Given the description of an element on the screen output the (x, y) to click on. 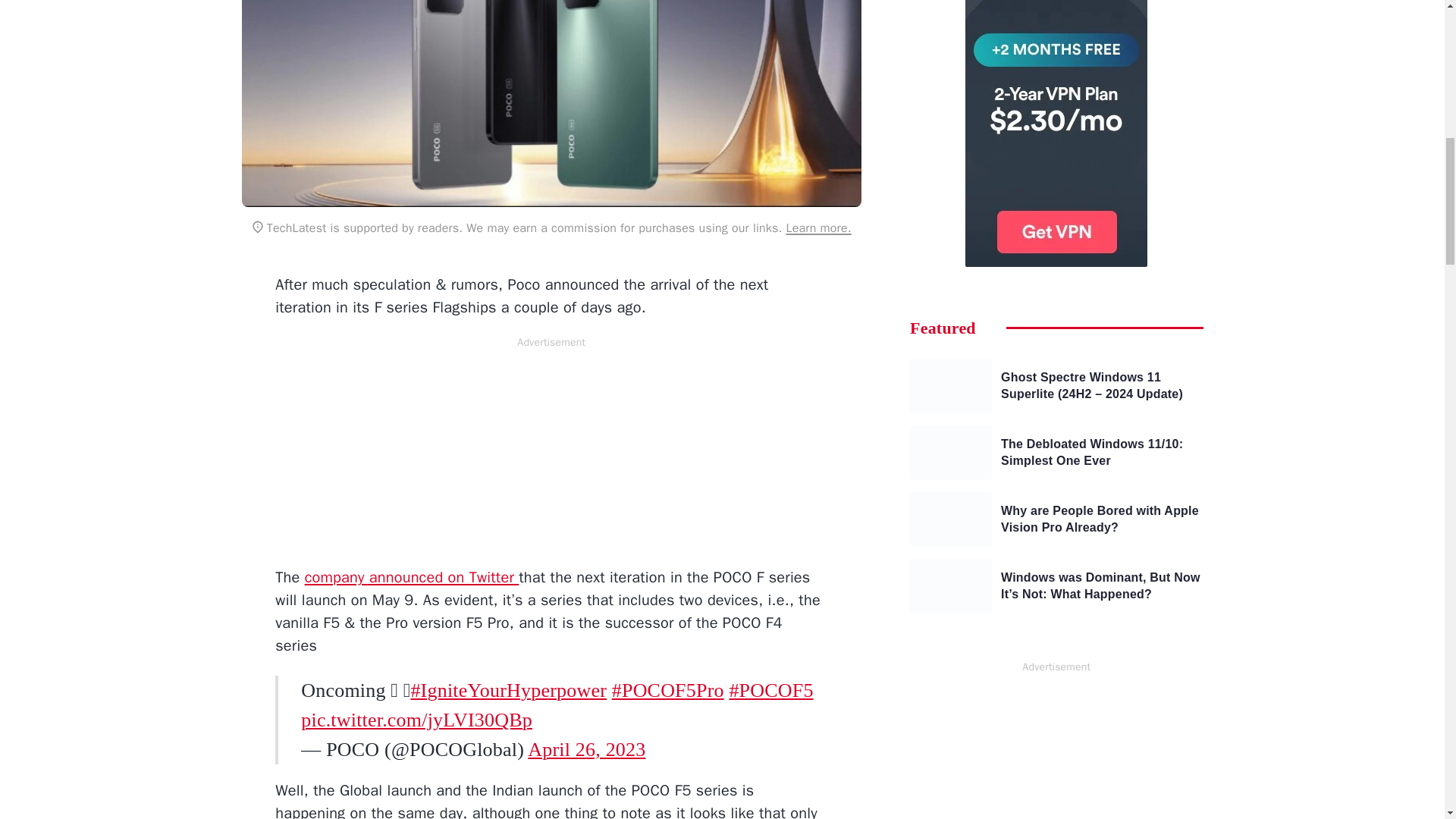
company announced on Twitter (411, 577)
Learn more. (818, 227)
April 26, 2023 (586, 749)
